Given the description of an element on the screen output the (x, y) to click on. 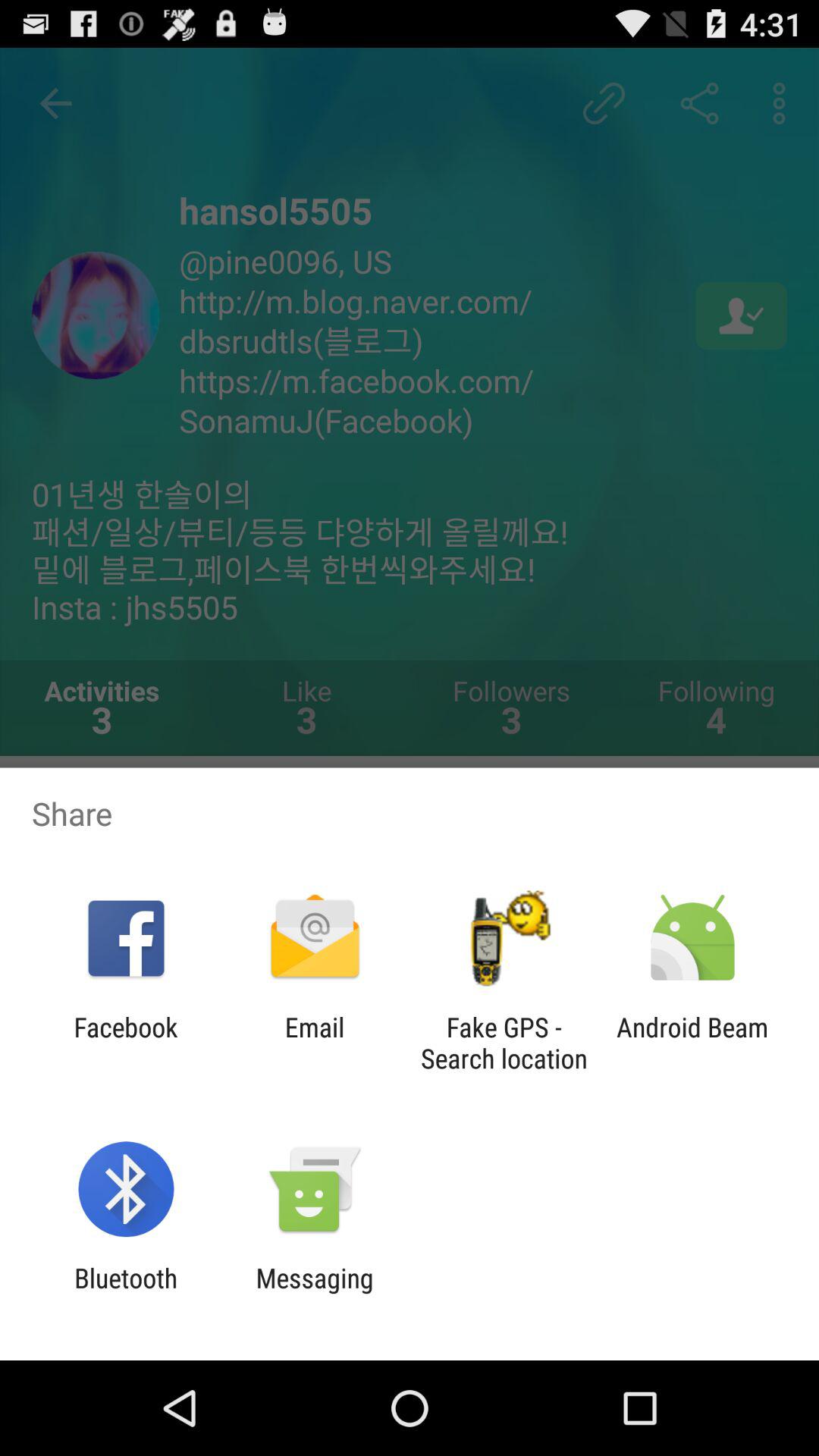
turn off item next to the fake gps search item (692, 1042)
